Given the description of an element on the screen output the (x, y) to click on. 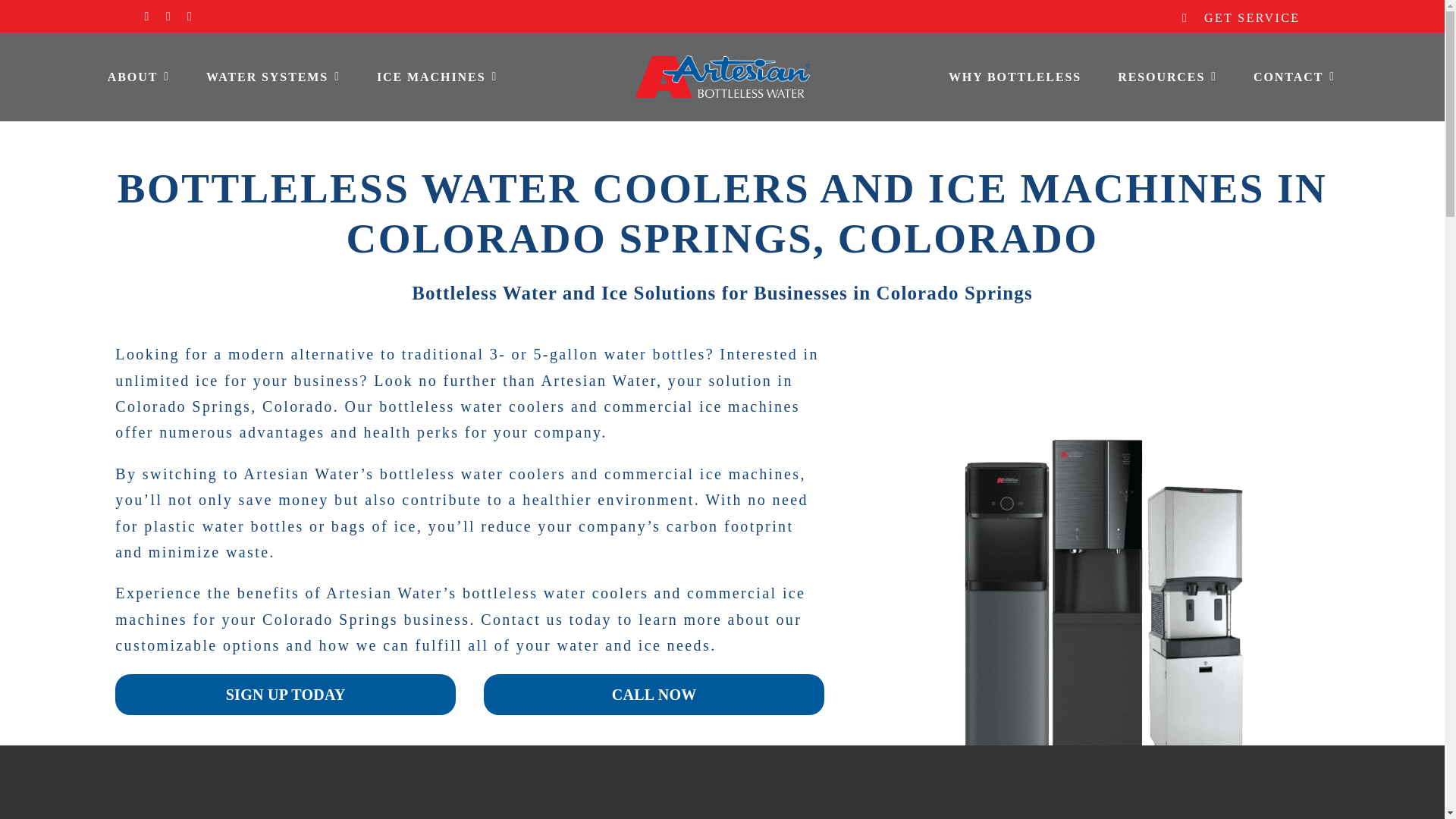
WATER SYSTEMS (272, 76)
GET SERVICE (1252, 17)
ABOUT (137, 76)
ICE MACHINES (436, 76)
WHY BOTTLELESS (1014, 76)
RESOURCES (1166, 76)
woman holding glass of water (406, 805)
